Given the description of an element on the screen output the (x, y) to click on. 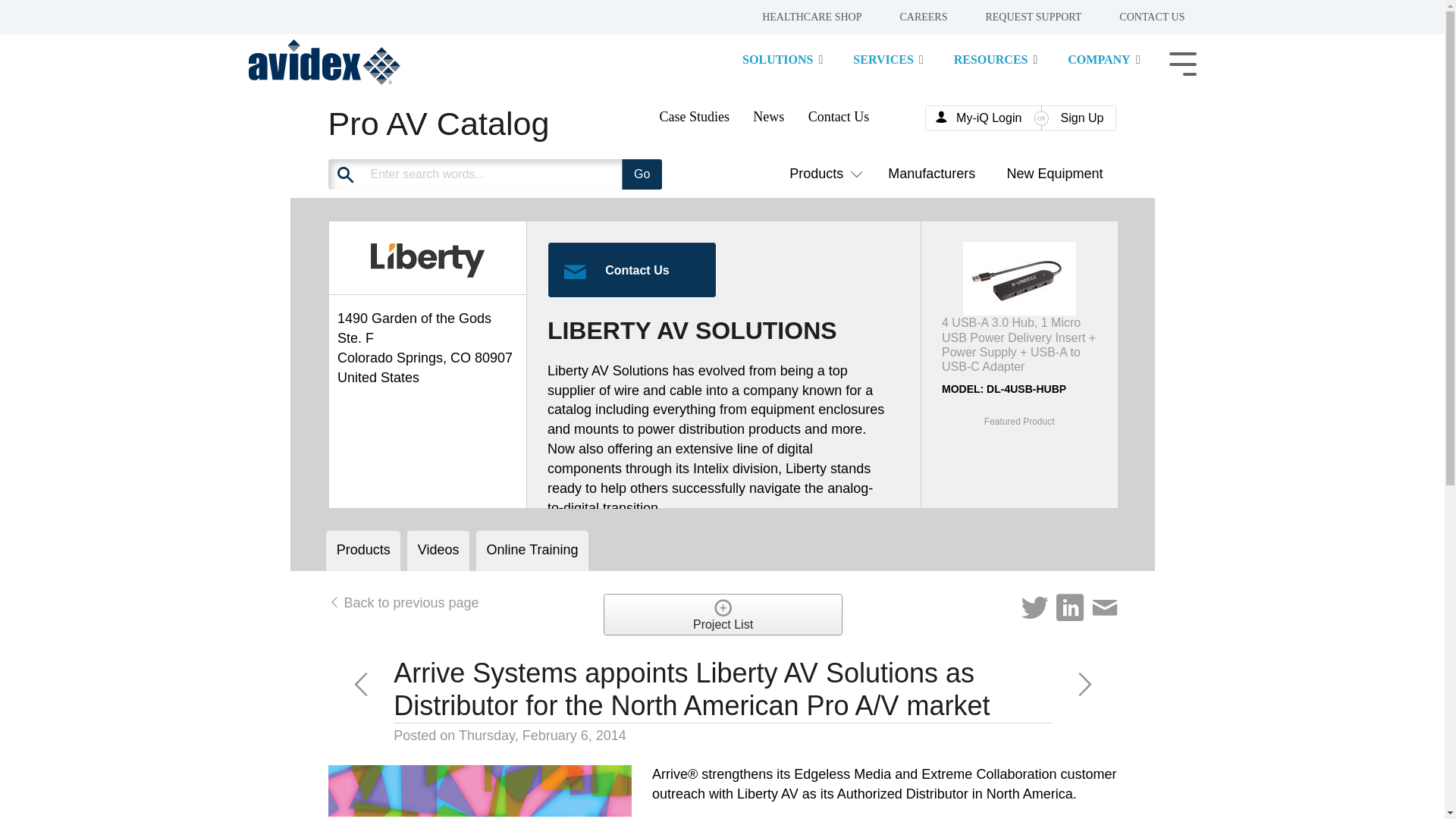
RESOURCES (995, 60)
Go (641, 173)
CAREERS (915, 18)
SOLUTIONS (782, 60)
Go (641, 173)
Avidex Logo (324, 62)
CONTACT US (1144, 18)
COMPANY (1103, 60)
HEALTHCARE SHOP (803, 18)
SERVICES (888, 60)
Enter search words... (531, 173)
REQUEST SUPPORT (1025, 18)
